Given the description of an element on the screen output the (x, y) to click on. 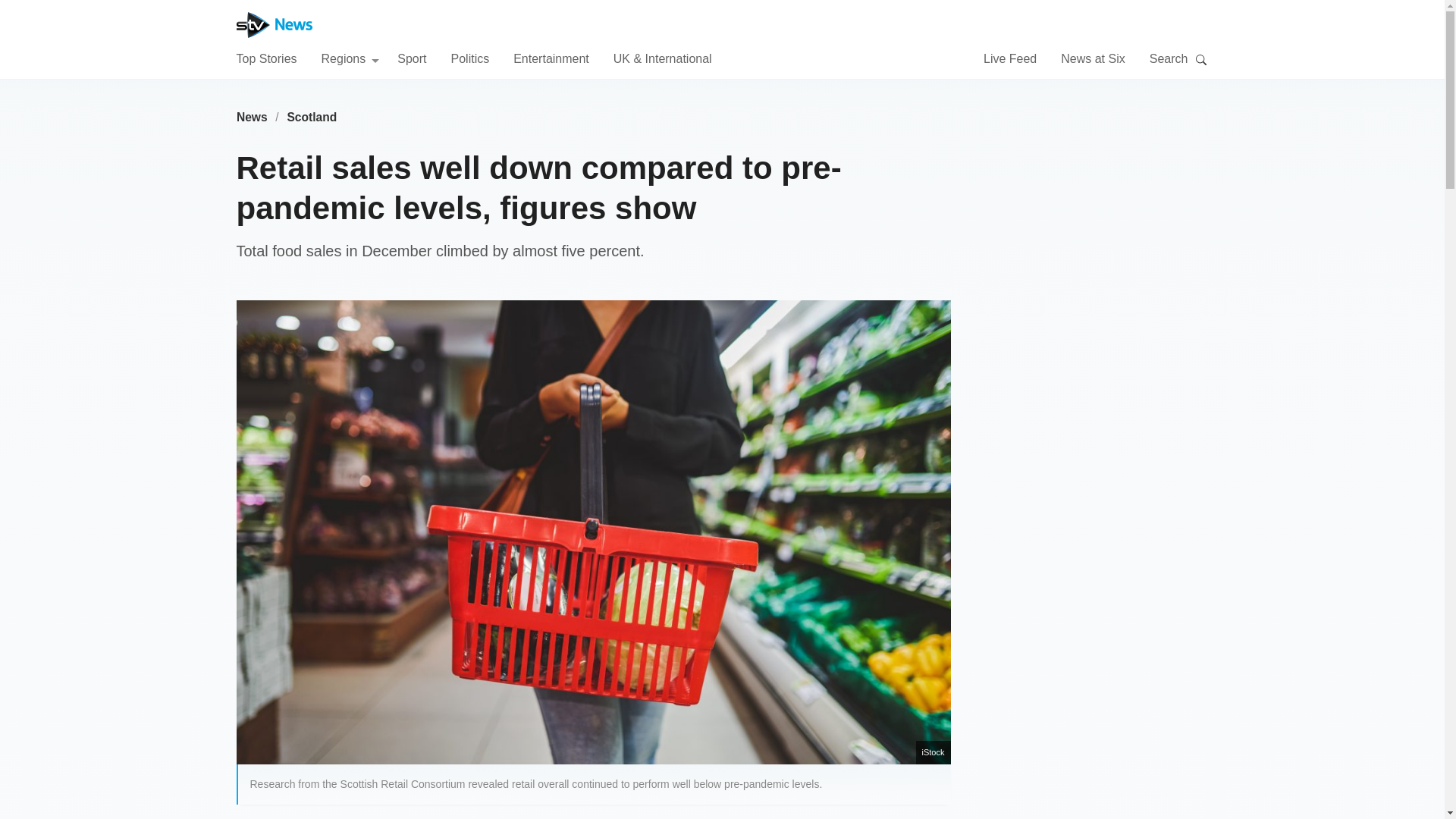
Regions (350, 57)
Politics (469, 57)
Sport (411, 57)
Entertainment (551, 57)
Search (1201, 59)
Scotland (312, 116)
Live Feed (1010, 57)
News at Six (1092, 57)
Top Stories (266, 57)
News (252, 116)
